Given the description of an element on the screen output the (x, y) to click on. 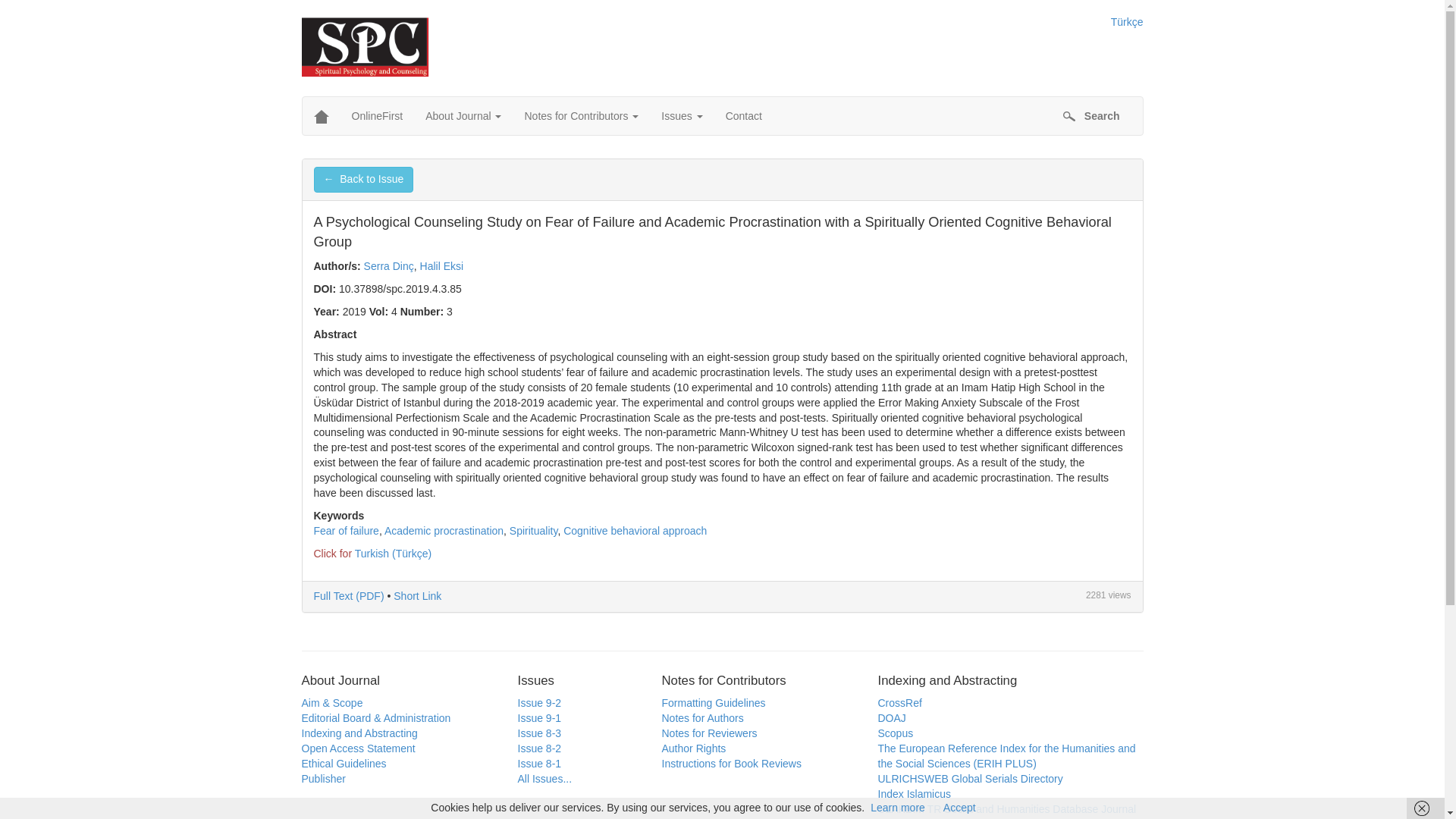
Issues (681, 116)
Spirituality (533, 530)
Halil Eksi (442, 265)
Open Access Statement (357, 748)
Issues (681, 116)
  Search (1091, 116)
Short Link (417, 595)
Contact (743, 116)
Spiritual Psychology and Counseling Home (320, 116)
Indexing and Abstracting (359, 733)
About Journal (462, 116)
OnlineFirst (376, 116)
Cognitive behavioral approach (634, 530)
Notes for Contributors (580, 116)
OnlineFirst (376, 116)
